Given the description of an element on the screen output the (x, y) to click on. 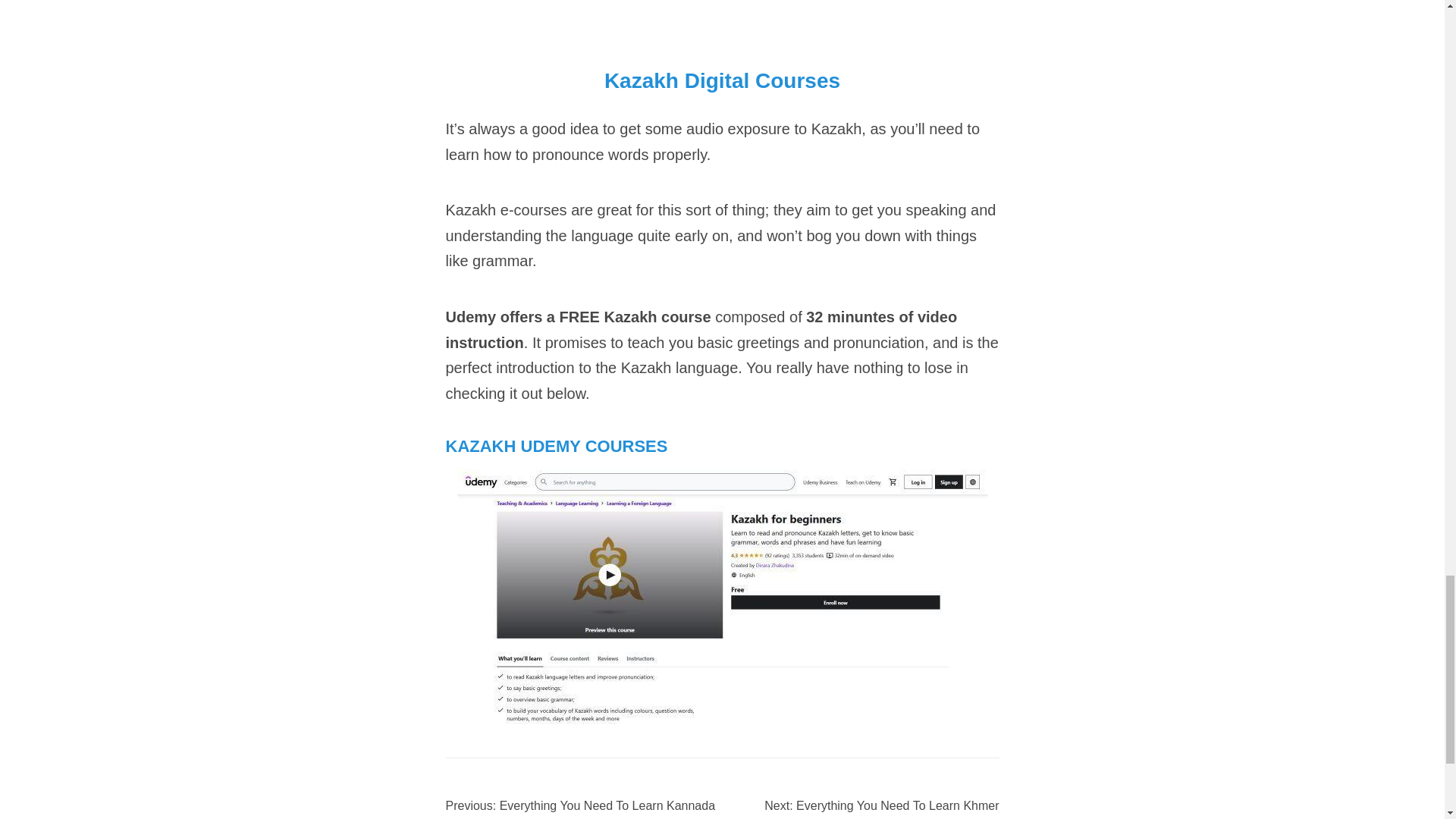
Udemy Kazakh (722, 478)
